Given the description of an element on the screen output the (x, y) to click on. 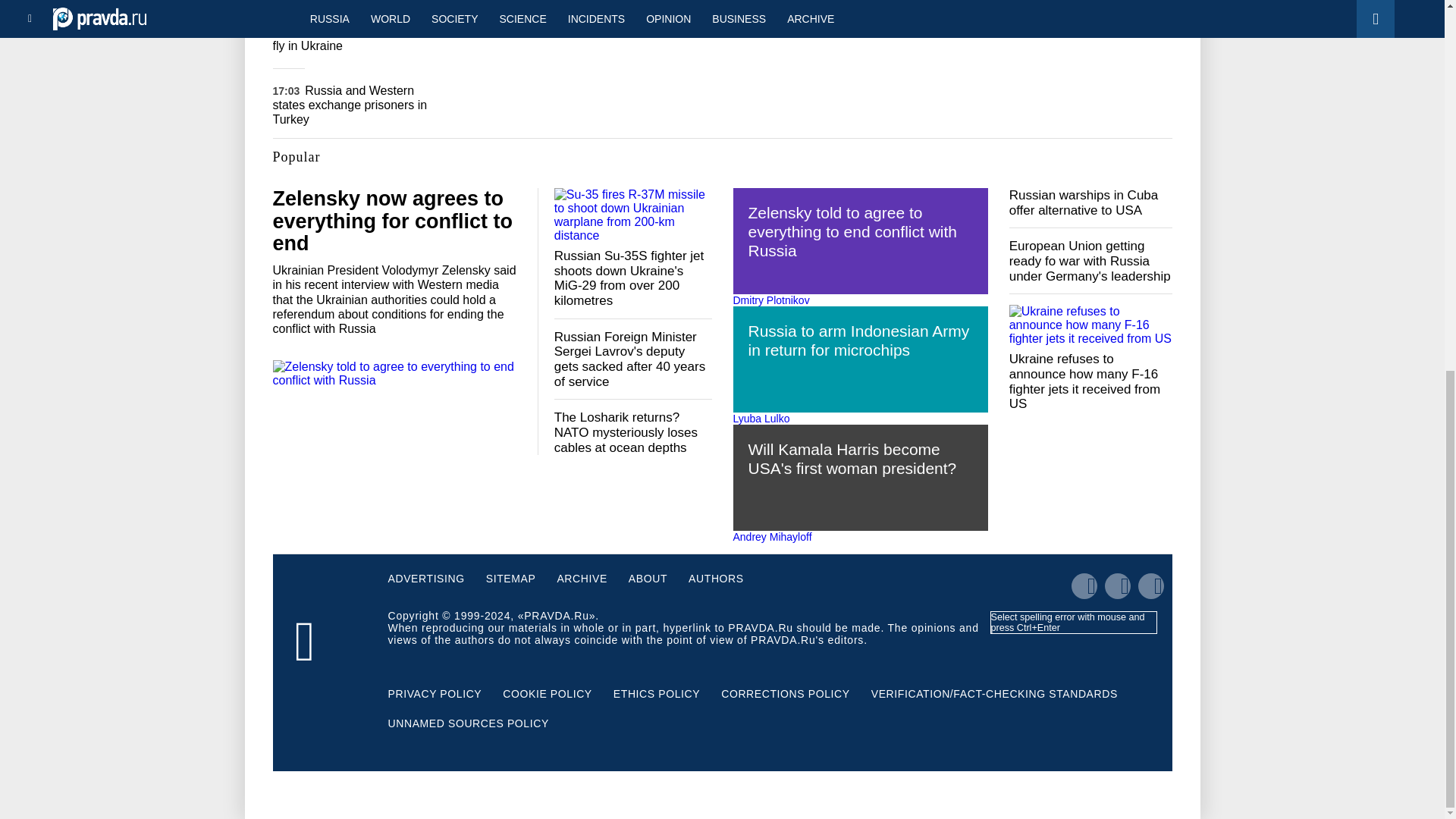
Russia and Western states exchange prisoners in Turkey (350, 105)
Back to top (1418, 225)
F-16 fighters already fly in Ukraine (344, 38)
